Given the description of an element on the screen output the (x, y) to click on. 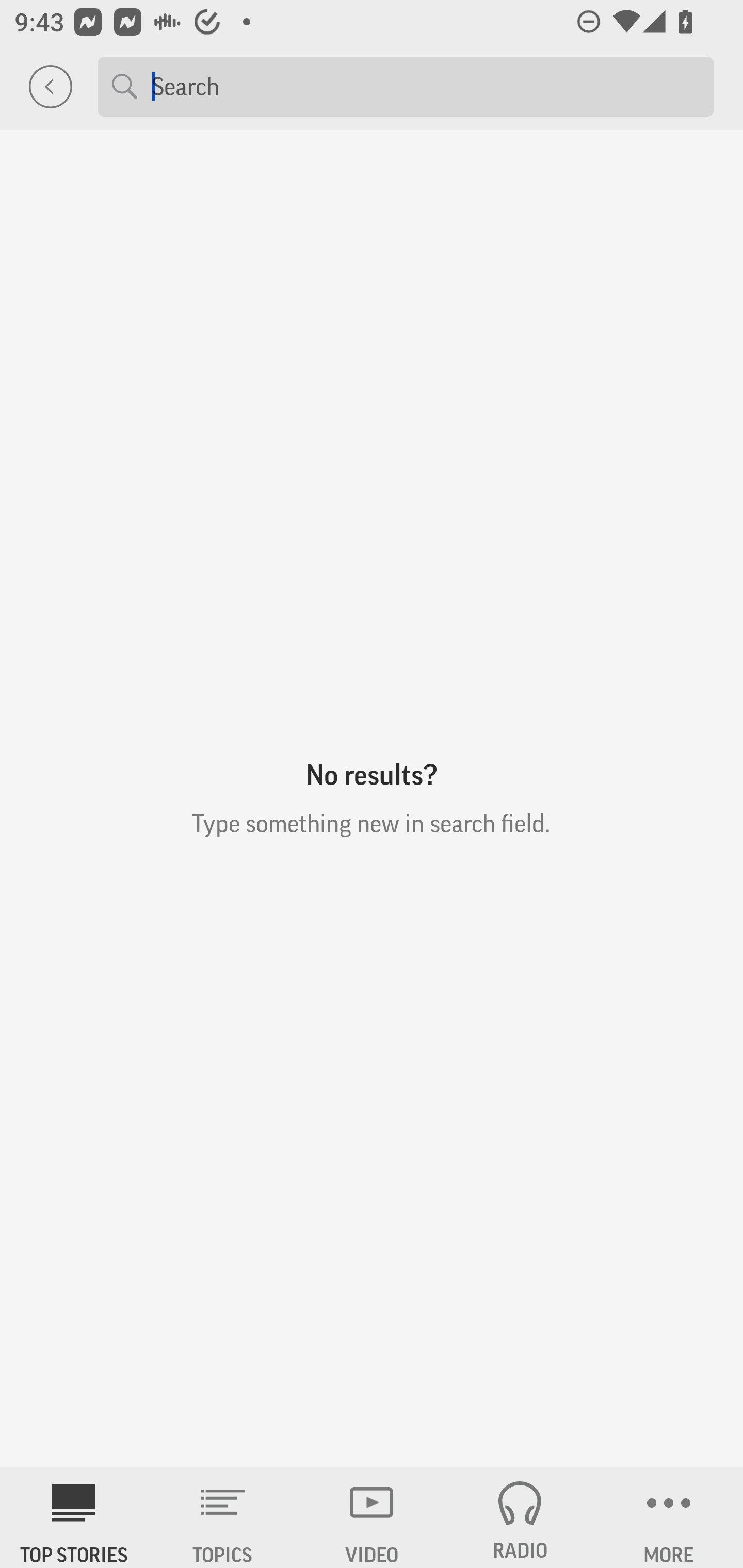
Search (425, 86)
AP News TOP STORIES (74, 1517)
TOPICS (222, 1517)
VIDEO (371, 1517)
RADIO (519, 1517)
MORE (668, 1517)
